Given the description of an element on the screen output the (x, y) to click on. 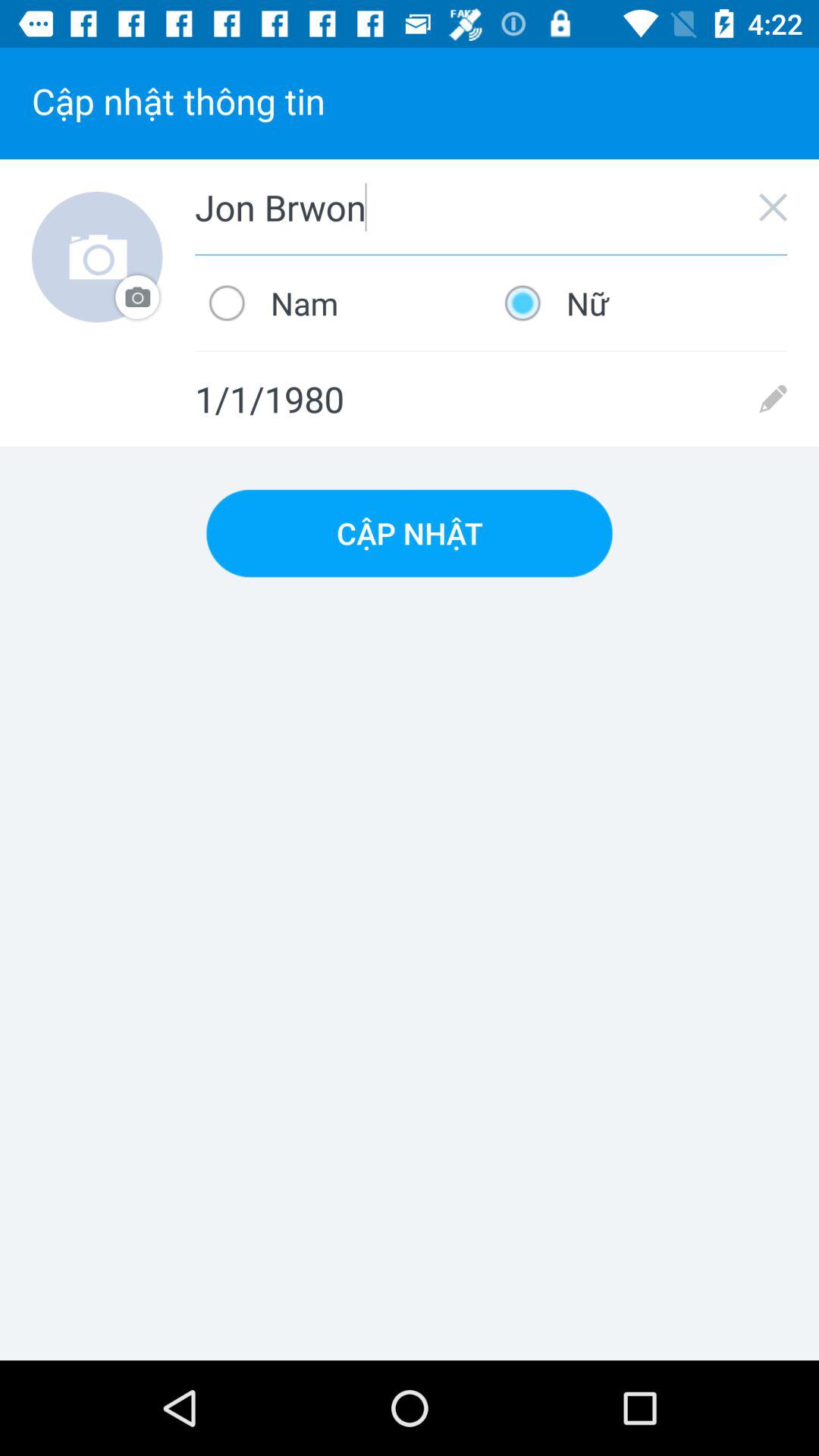
tap the icon next to the nam (638, 302)
